Given the description of an element on the screen output the (x, y) to click on. 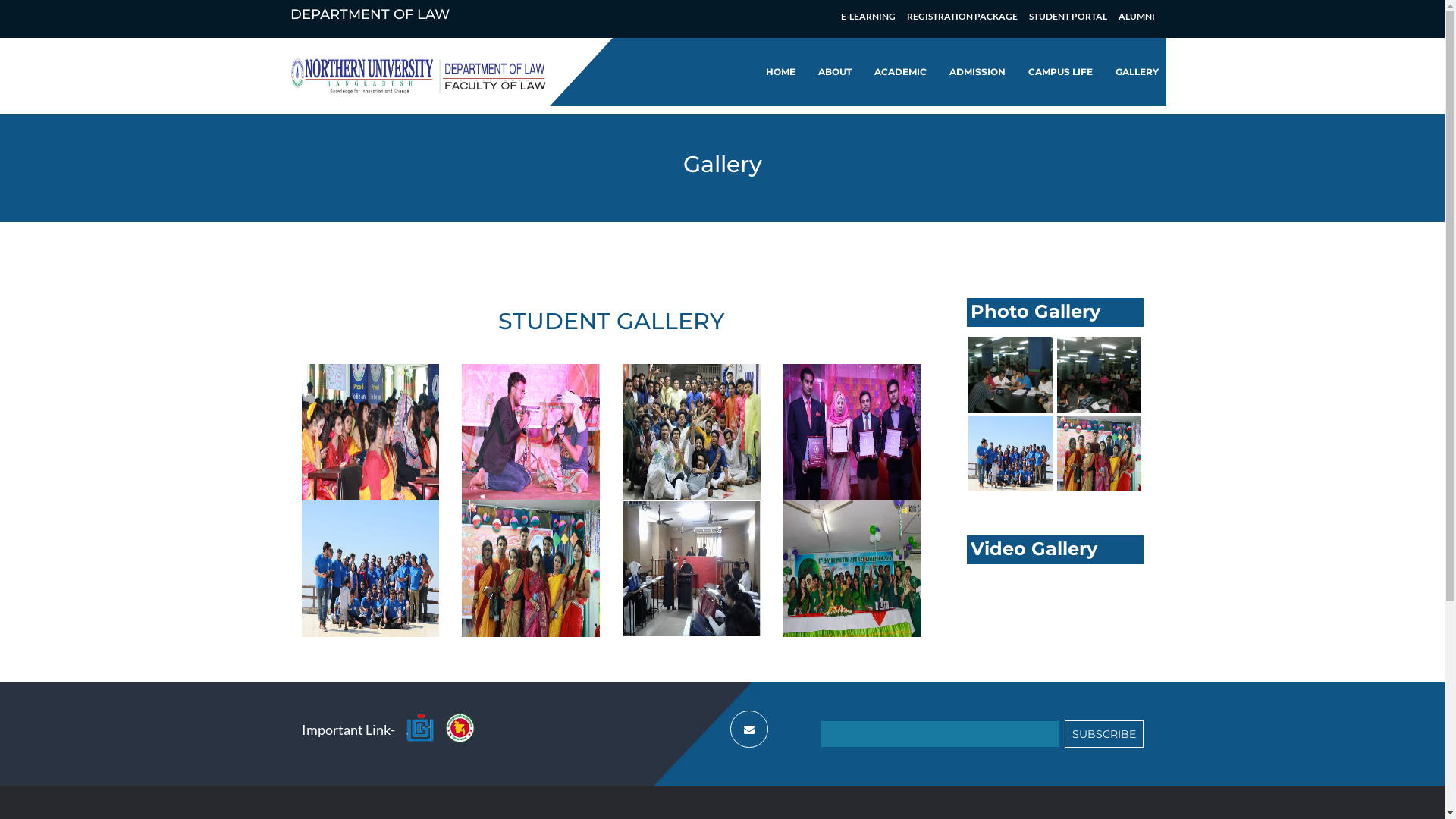
ACADEMIC Element type: text (899, 71)
E-LEARNING Element type: text (867, 16)
CAMPUS LIFE Element type: text (1060, 71)
Student Gallery Element type: hover (691, 432)
REGISTRATION PACKAGE Element type: text (961, 16)
Student Gallery Element type: hover (530, 568)
ABOUT Element type: text (833, 71)
Student Gallery Element type: hover (852, 432)
GALLERY Element type: text (1135, 71)
Student Gallery Element type: hover (852, 568)
Student Gallery Element type: hover (1099, 424)
Library Element type: hover (1010, 345)
Student Gallery Element type: hover (370, 432)
Student Gallery Element type: hover (691, 568)
Student Gallery Element type: hover (370, 568)
ADMISSION Element type: text (977, 71)
Student Gallery Element type: hover (530, 432)
Library Element type: hover (1099, 345)
Student Gallery Element type: hover (1010, 424)
STUDENT PORTAL Element type: text (1067, 16)
HOME Element type: text (780, 71)
SUBSCRIBE Element type: text (1103, 733)
ALUMNI Element type: text (1135, 16)
